Given the description of an element on the screen output the (x, y) to click on. 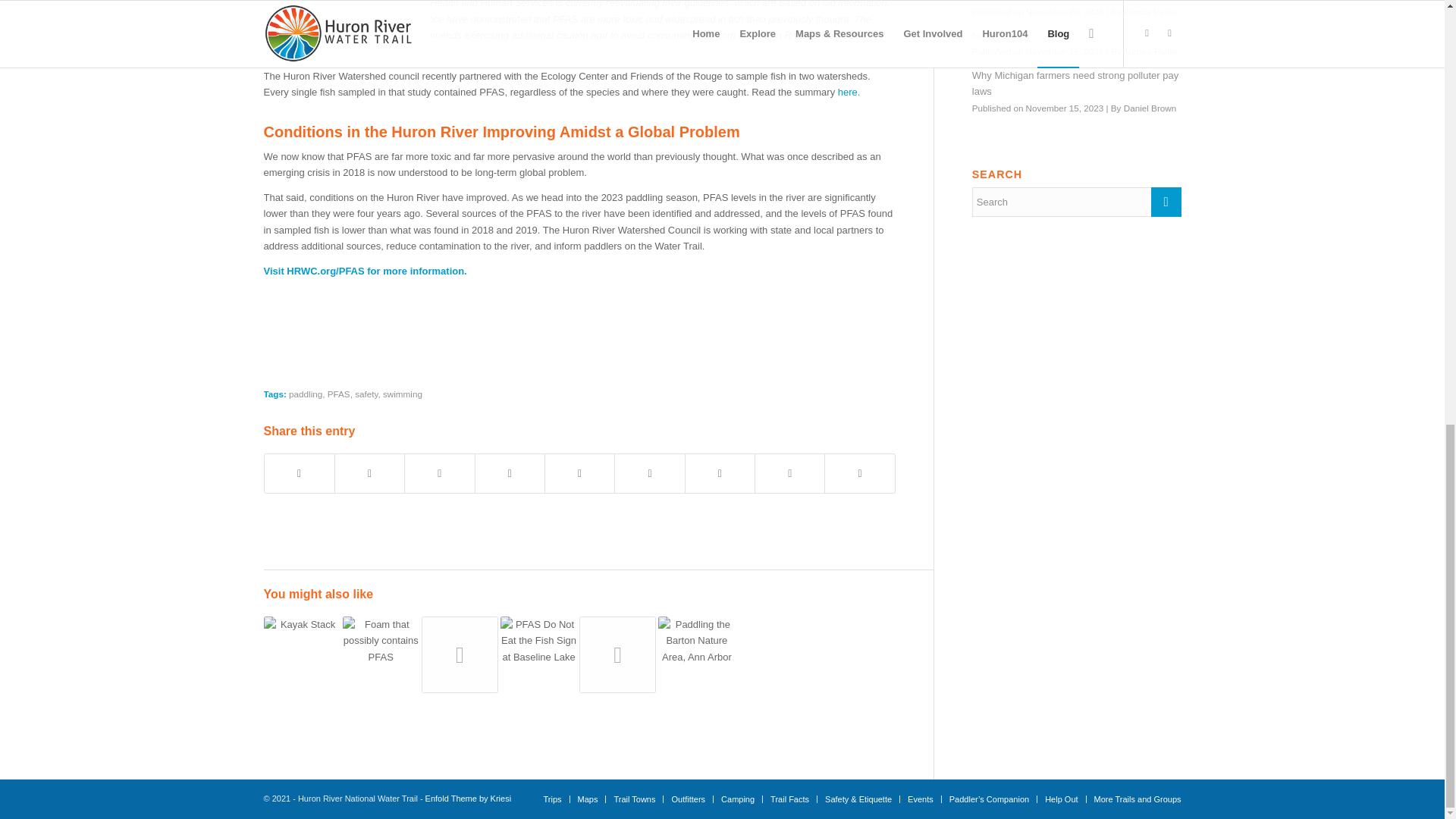
here. (849, 91)
paddling (304, 393)
PFAS (338, 393)
safety (366, 393)
swimming (402, 393)
